Given the description of an element on the screen output the (x, y) to click on. 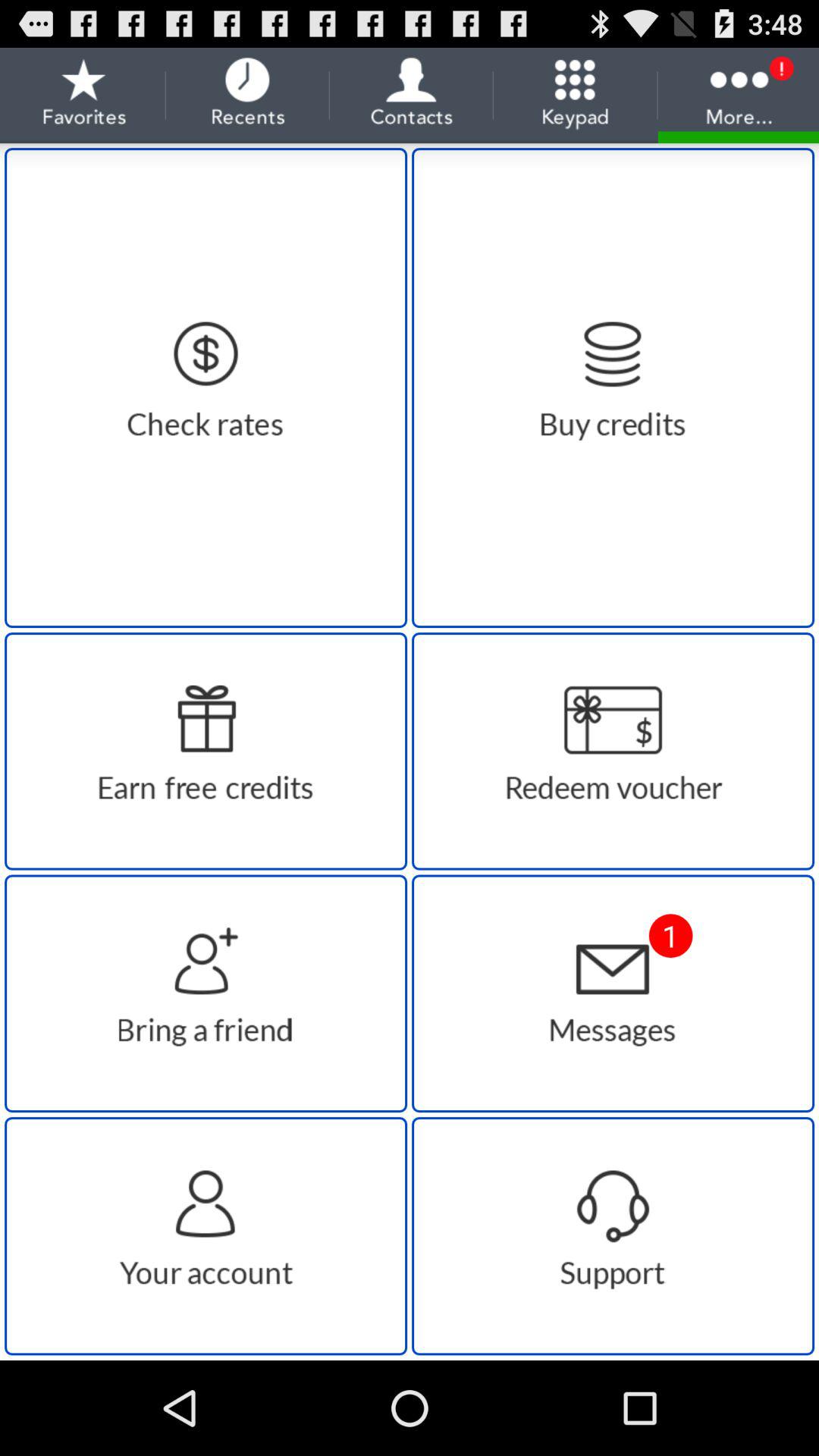
buy credits option (612, 387)
